Given the description of an element on the screen output the (x, y) to click on. 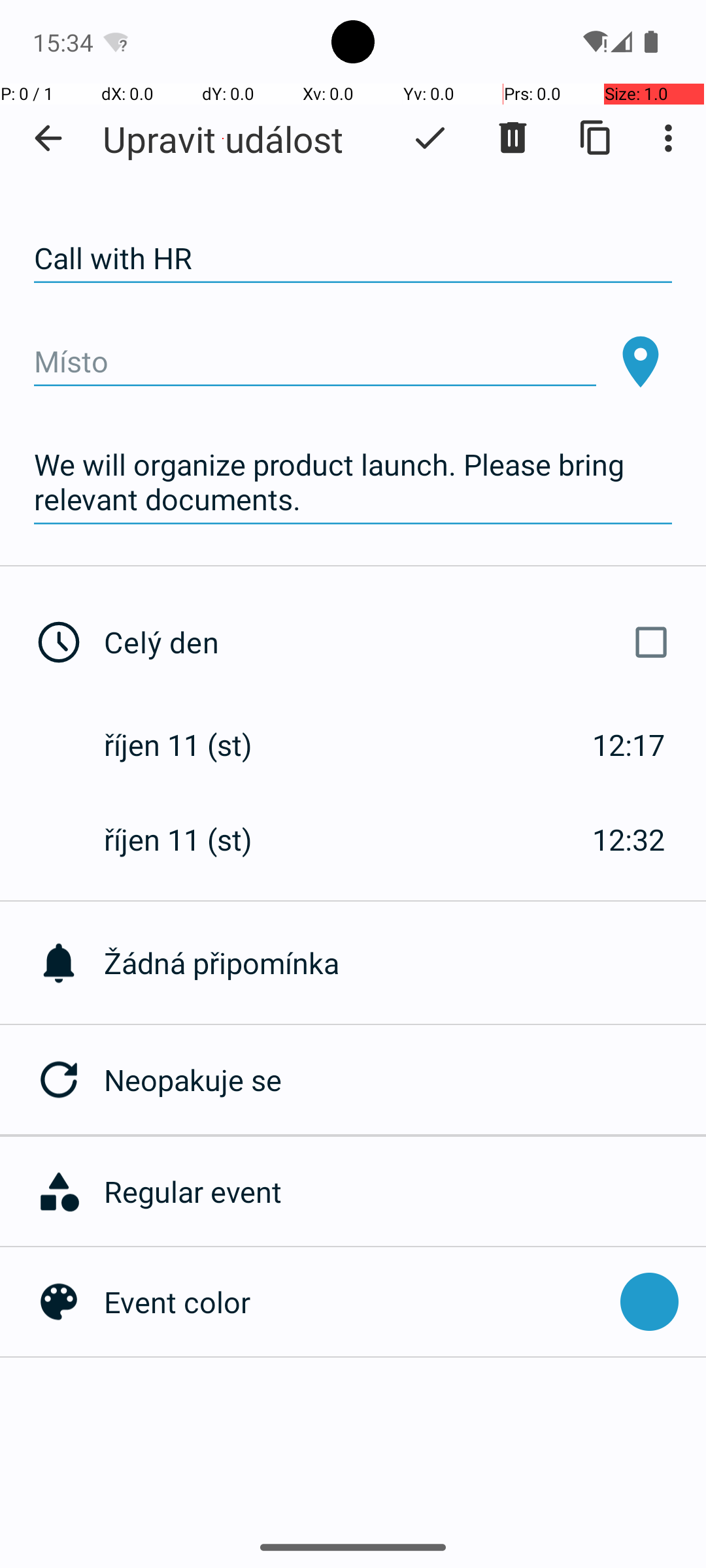
Upravit událost Element type: android.widget.TextView (222, 138)
Smazat Element type: android.widget.Button (512, 137)
Zkopírovat událost Element type: android.widget.Button (595, 137)
Místo Element type: android.widget.EditText (314, 361)
We will organize product launch. Please bring relevant documents. Element type: android.widget.EditText (352, 482)
říjen 11 (st) Element type: android.widget.TextView (191, 744)
12:17 Element type: android.widget.TextView (628, 744)
12:32 Element type: android.widget.TextView (628, 838)
Žádná připomínka Element type: android.widget.TextView (404, 962)
Neopakuje se Element type: android.widget.TextView (404, 1079)
